Given the description of an element on the screen output the (x, y) to click on. 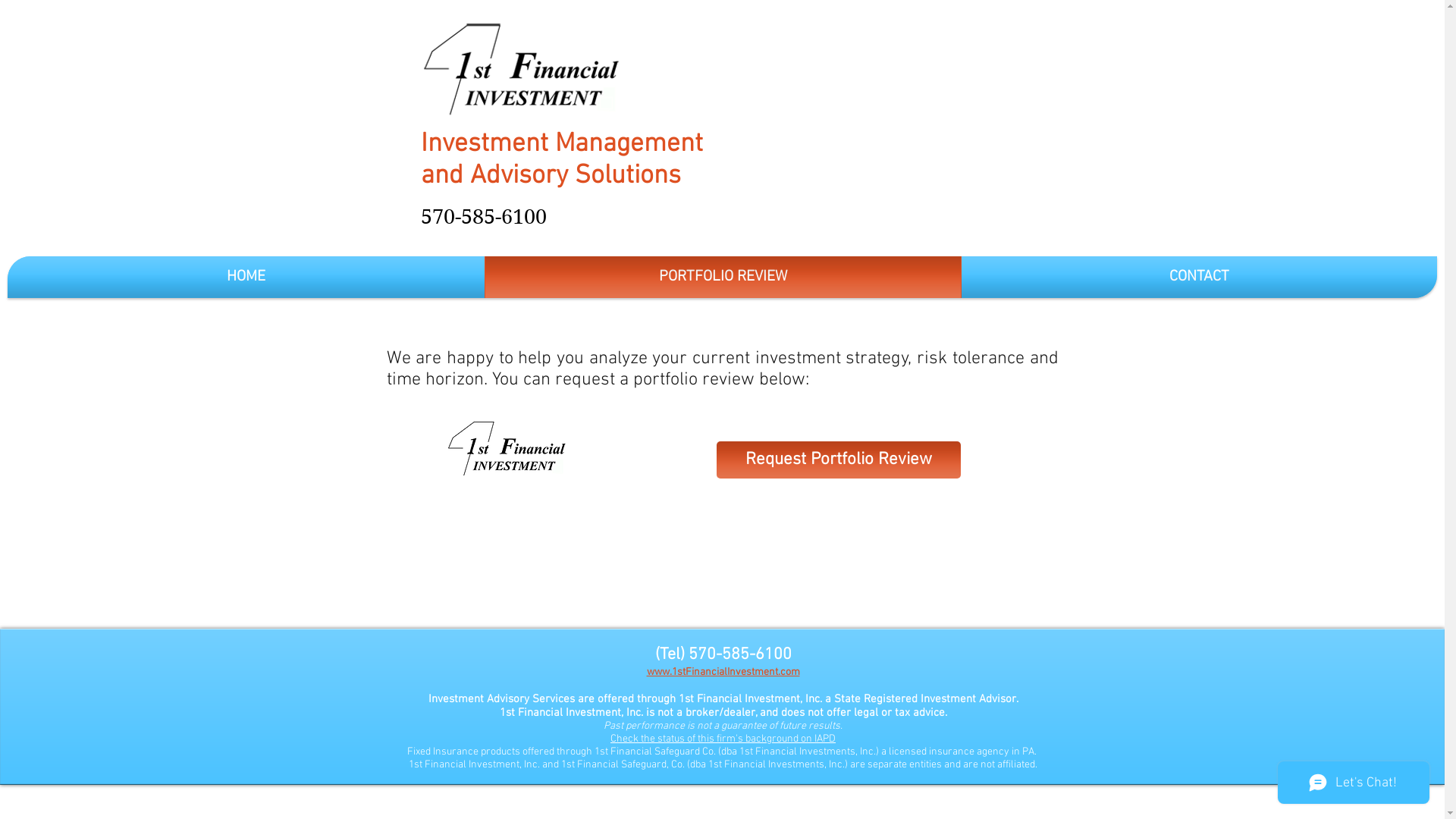
www.1stFinancialInvestment.com Element type: text (722, 671)
Check the status of this firm's background on IAPD Element type: text (722, 738)
CONTACT Element type: text (1199, 277)
PORTFOLIO REVIEW Element type: text (722, 277)
HOME Element type: text (245, 277)
Request Portfolio Review Element type: text (837, 459)
